Given the description of an element on the screen output the (x, y) to click on. 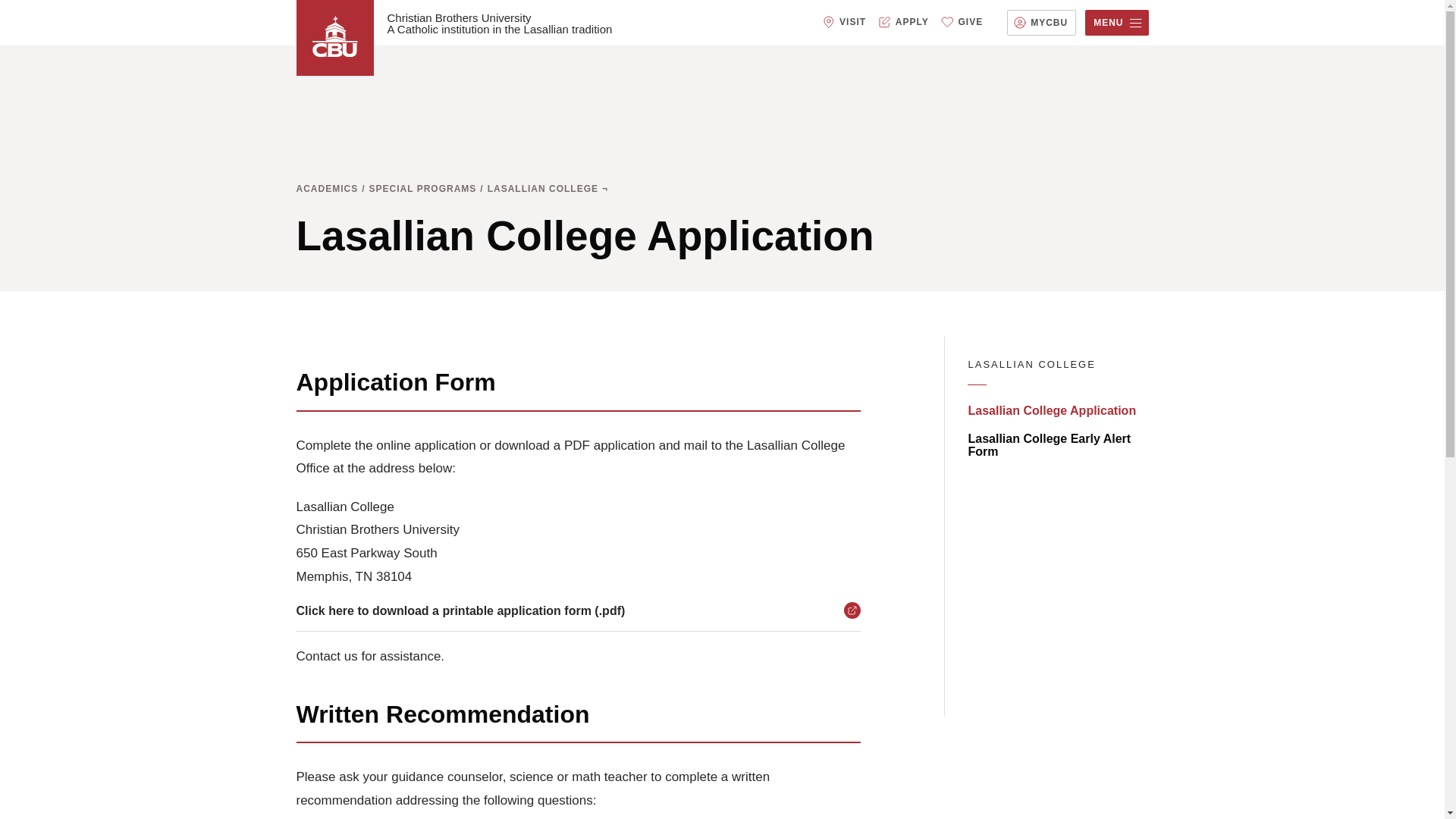
VISIT (853, 22)
MENU (1116, 22)
GIVE (970, 22)
Login Required (1048, 23)
MYCBU (1048, 23)
APPLY (911, 22)
Search (21, 7)
